Given the description of an element on the screen output the (x, y) to click on. 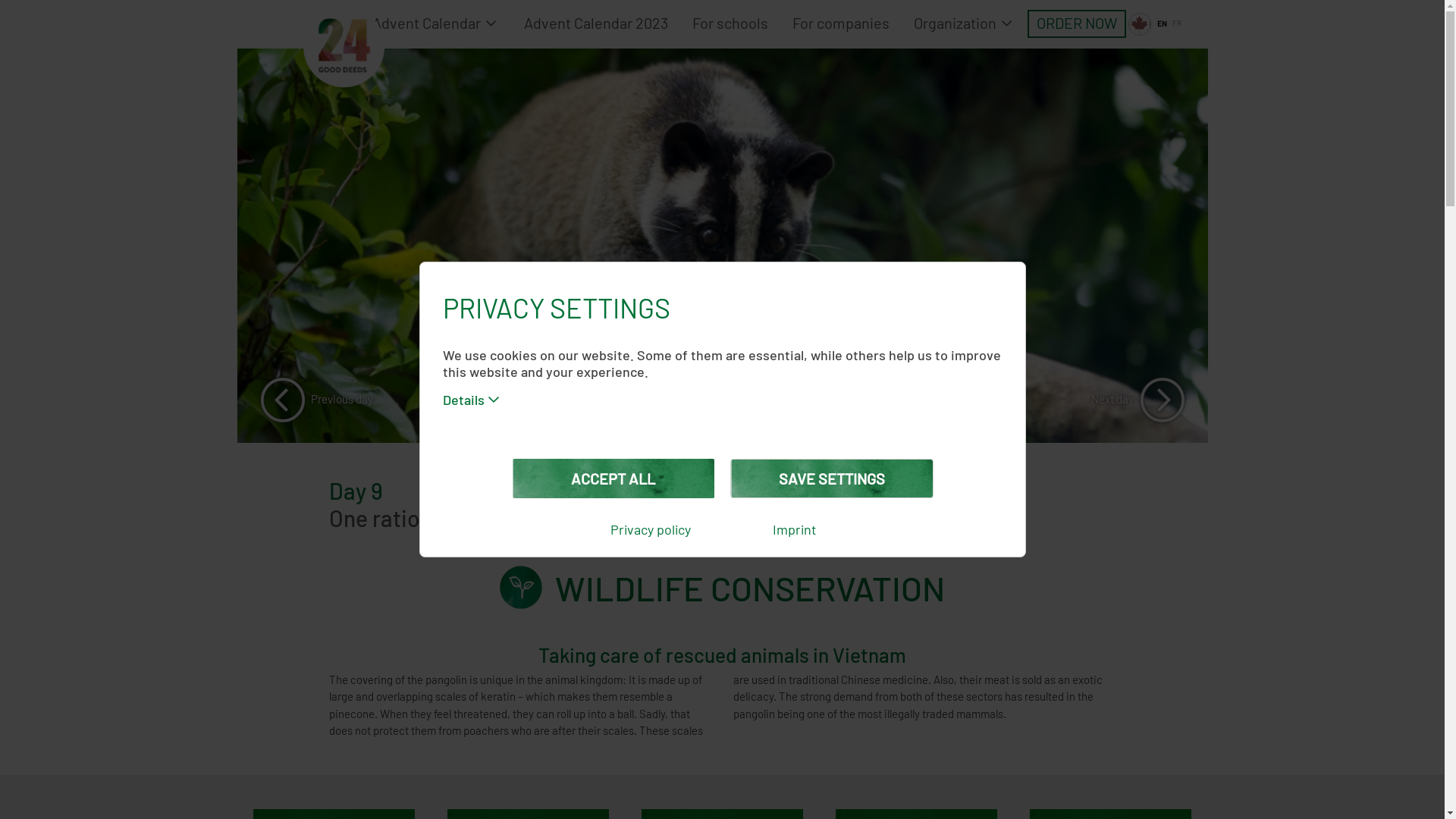
For companies Element type: text (840, 24)
FR Element type: text (1176, 23)
Organization Element type: text (964, 24)
Charity Advent Calendar Element type: text (411, 24)
Advent Calendar 2023 Element type: text (595, 24)
ORDER NOW Element type: text (1076, 23)
ACCEPT ALL Element type: text (612, 478)
Privacy policy Element type: text (649, 530)
SAVE SETTINGS Element type: text (830, 478)
For schools Element type: text (729, 24)
Next day Element type: text (1138, 400)
Imprint Element type: text (793, 530)
EN Element type: text (1162, 23)
Previous day Element type: text (316, 400)
